Given the description of an element on the screen output the (x, y) to click on. 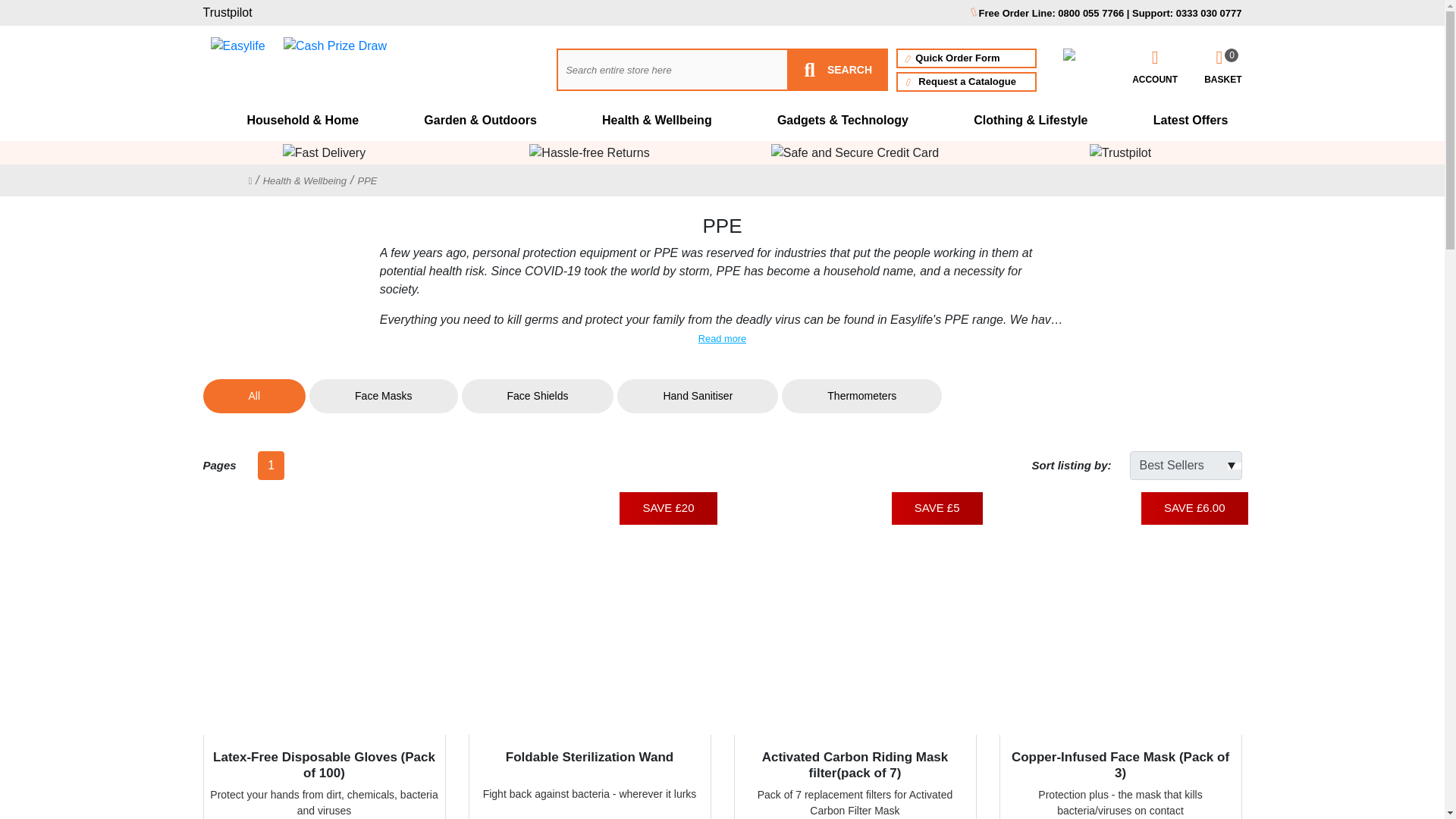
health-and-wellbeing (304, 181)
Quick Order Form (1222, 67)
ACCOUNT (966, 57)
Request a Catalogue (1154, 67)
SEARCH (966, 81)
ppe (838, 69)
Trustpilot (366, 181)
